Given the description of an element on the screen output the (x, y) to click on. 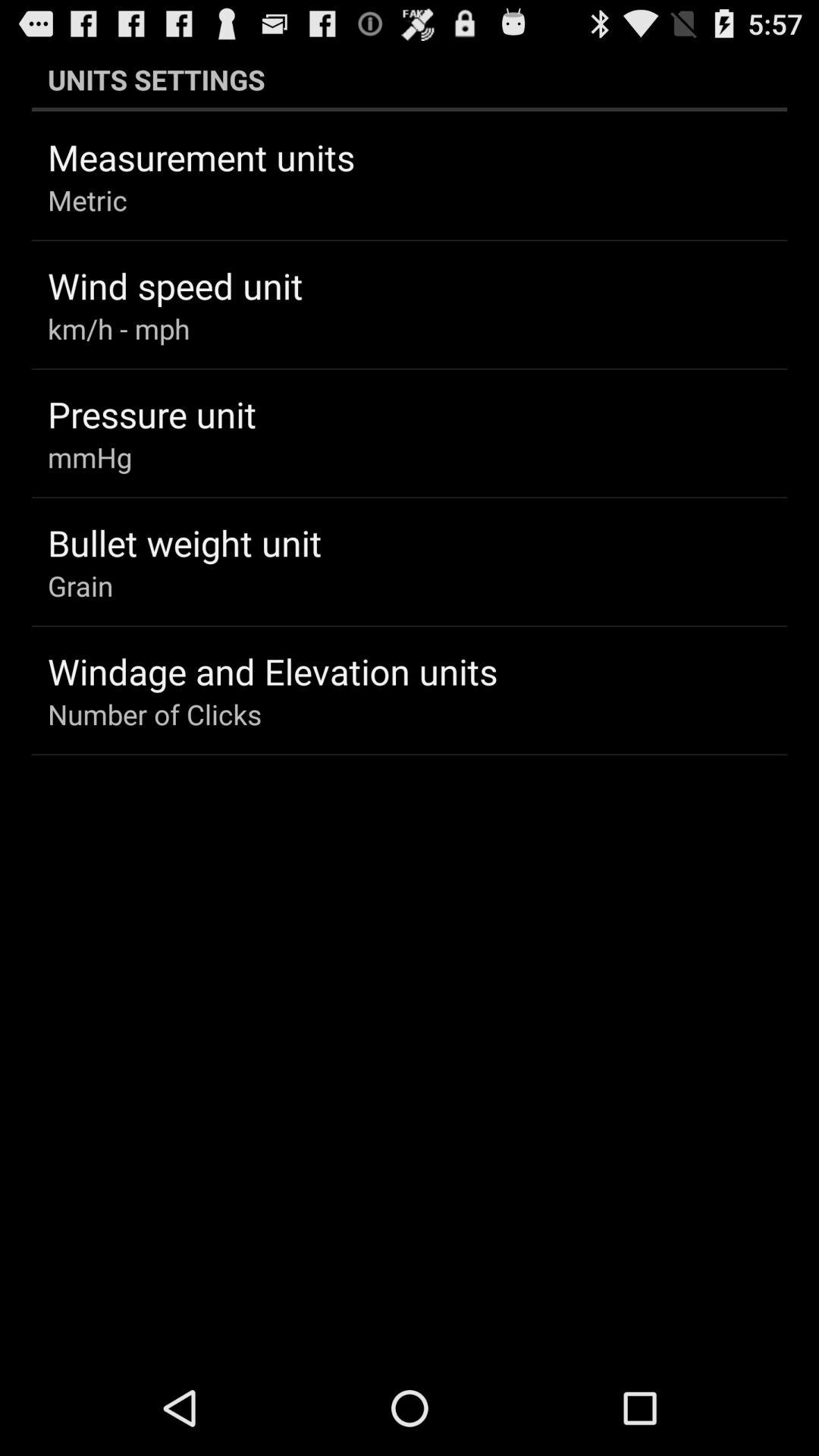
jump until mmhg app (89, 457)
